Given the description of an element on the screen output the (x, y) to click on. 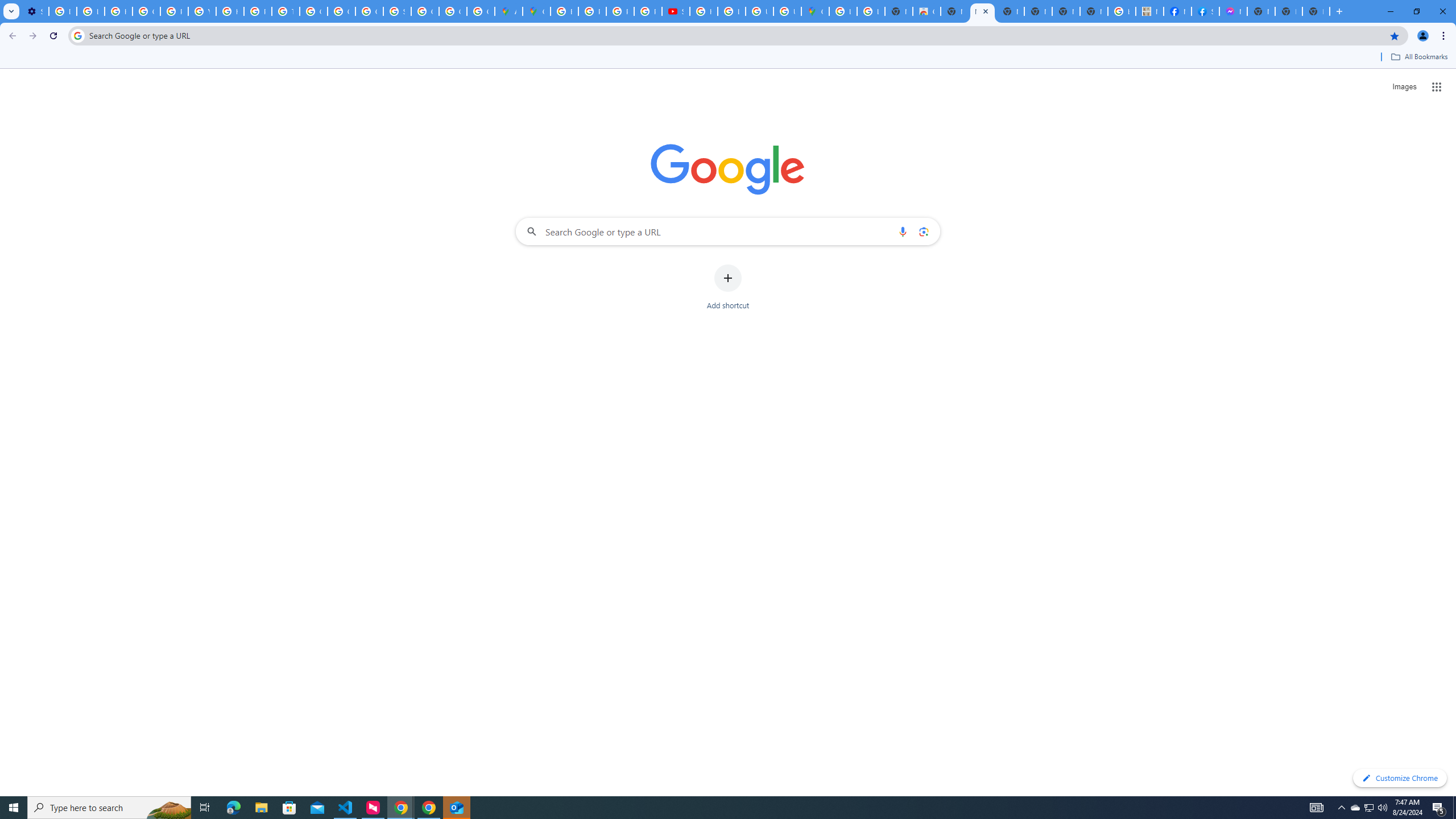
Customize Chrome (1399, 778)
Privacy Help Center - Policies Help (257, 11)
How Chrome protects your passwords - Google Chrome Help (703, 11)
Miley Cyrus | Facebook (1177, 11)
Search icon (77, 35)
Search for Images  (1403, 87)
